Given the description of an element on the screen output the (x, y) to click on. 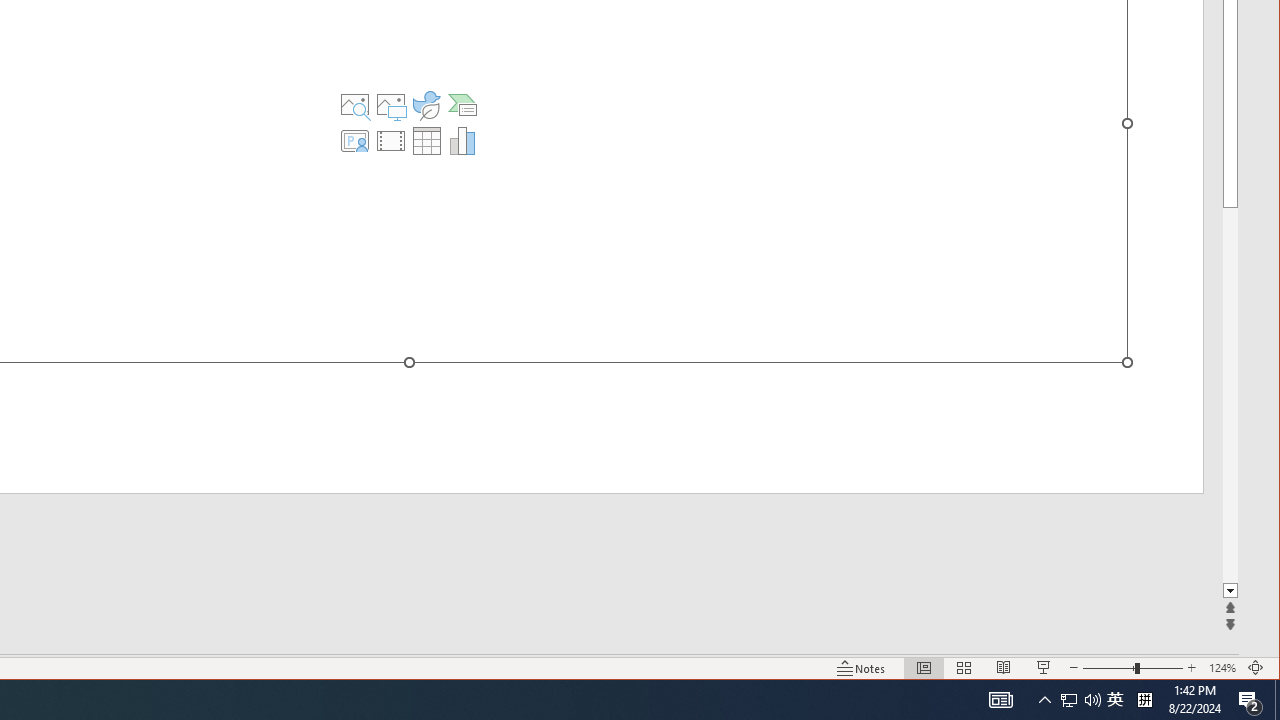
Insert an Icon (426, 104)
Insert a SmartArt Graphic (462, 104)
Insert Video (391, 140)
Insert Chart (462, 140)
Insert Table (426, 140)
